Given the description of an element on the screen output the (x, y) to click on. 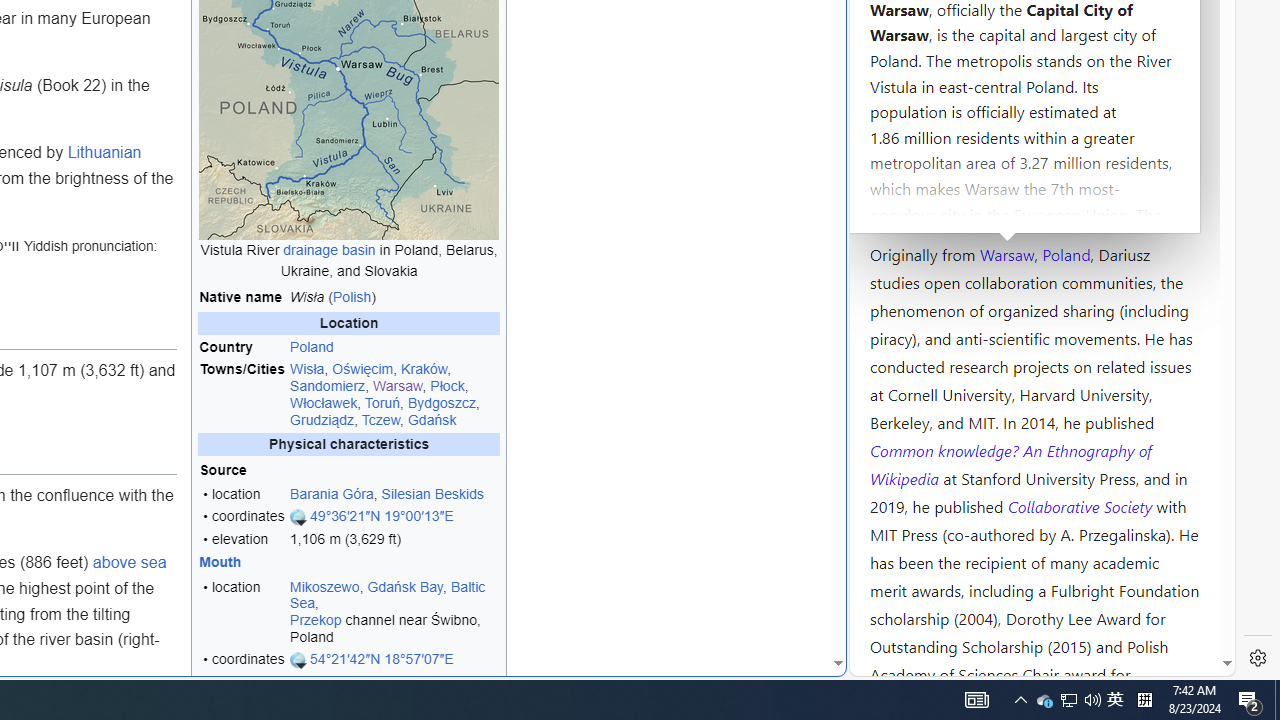
Actions for this site (1129, 306)
Show location on an interactive map (299, 660)
Global web icon (888, 663)
Przekop (315, 620)
Sandomierz (327, 385)
